Given the description of an element on the screen output the (x, y) to click on. 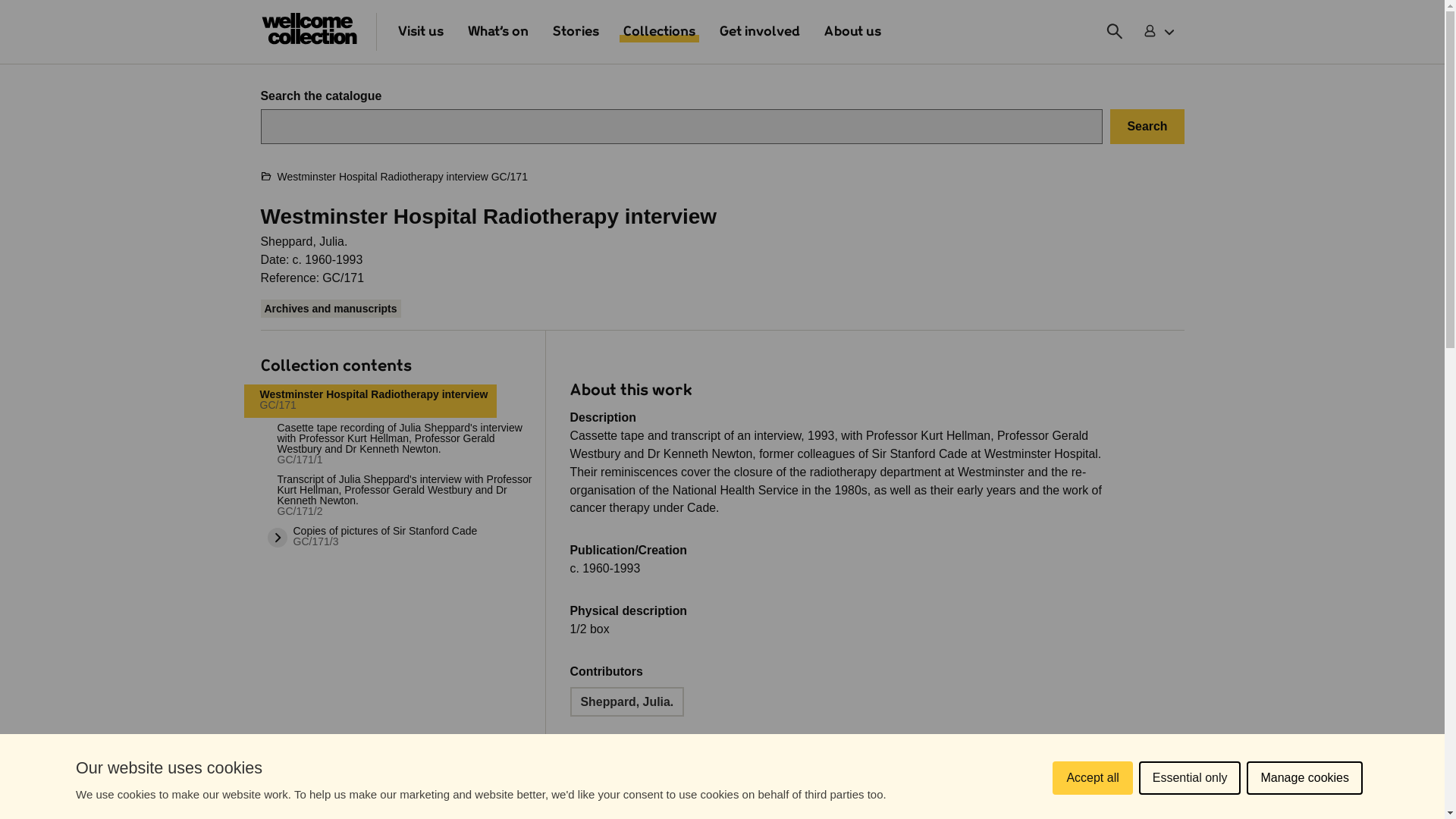
Stories (575, 31)
Search (1146, 126)
Accept all (1092, 815)
Get involved (759, 31)
About us (853, 31)
Sheppard, Julia. (627, 701)
Collections (659, 31)
Essential only (1189, 808)
Wellcome Collection homepage (309, 31)
Manage cookies (1304, 805)
Visit us (420, 31)
Wellcome Collection homepage (309, 29)
